Given the description of an element on the screen output the (x, y) to click on. 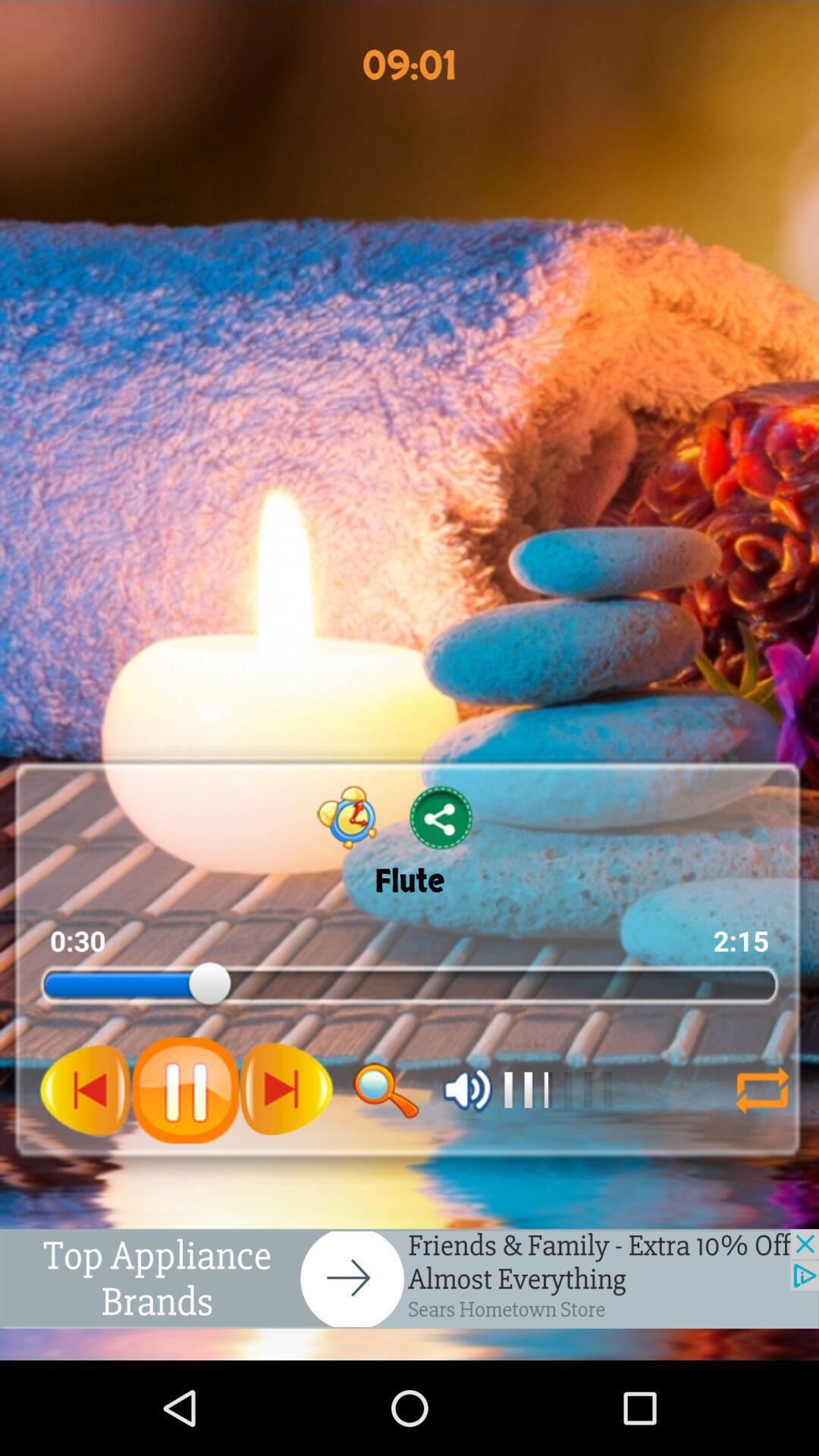
replay current selection (761, 1089)
